Given the description of an element on the screen output the (x, y) to click on. 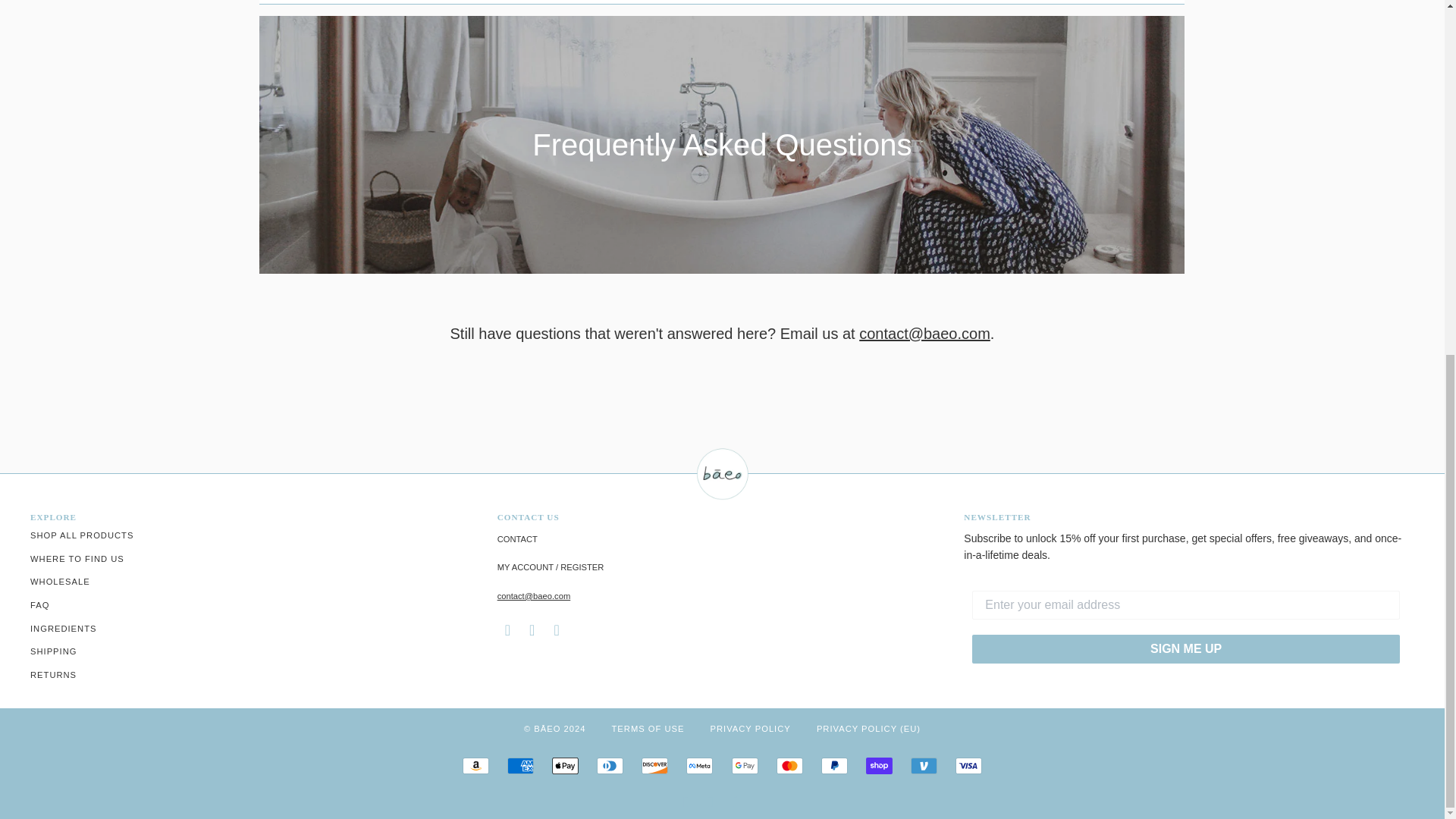
MASTERCARD (789, 765)
APPLE PAY (564, 765)
DINERS CLUB (609, 765)
GOOGLE PAY (745, 765)
AMAZON (476, 765)
Contact Us (517, 538)
AMERICAN EXPRESS (520, 765)
VENMO (924, 765)
DISCOVER (655, 765)
SHOP PAY (879, 765)
PAYPAL (834, 765)
META PAY (699, 765)
VISA (968, 765)
